Given the description of an element on the screen output the (x, y) to click on. 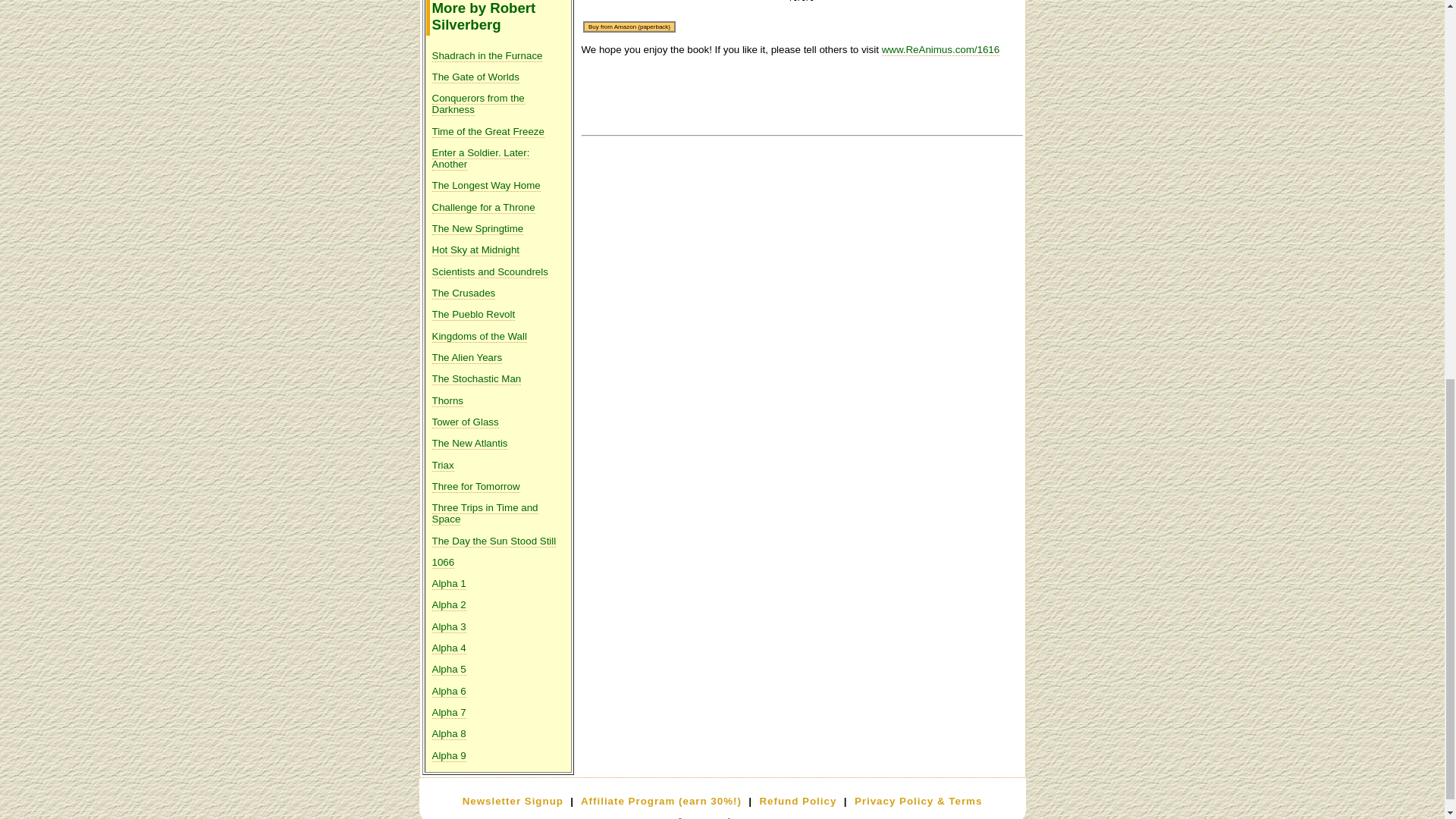
Triax (443, 465)
The Pueblo Revolt (473, 314)
Three Trips in Time and Space (485, 513)
Kingdoms of the Wall (479, 336)
Shadrach in the Furnace (487, 55)
Conquerors from the Darkness (478, 104)
The Gate of Worlds (475, 77)
Challenge for a Throne (483, 207)
Enter a Soldier. Later: Another (480, 158)
Three for Tomorrow (475, 486)
